Given the description of an element on the screen output the (x, y) to click on. 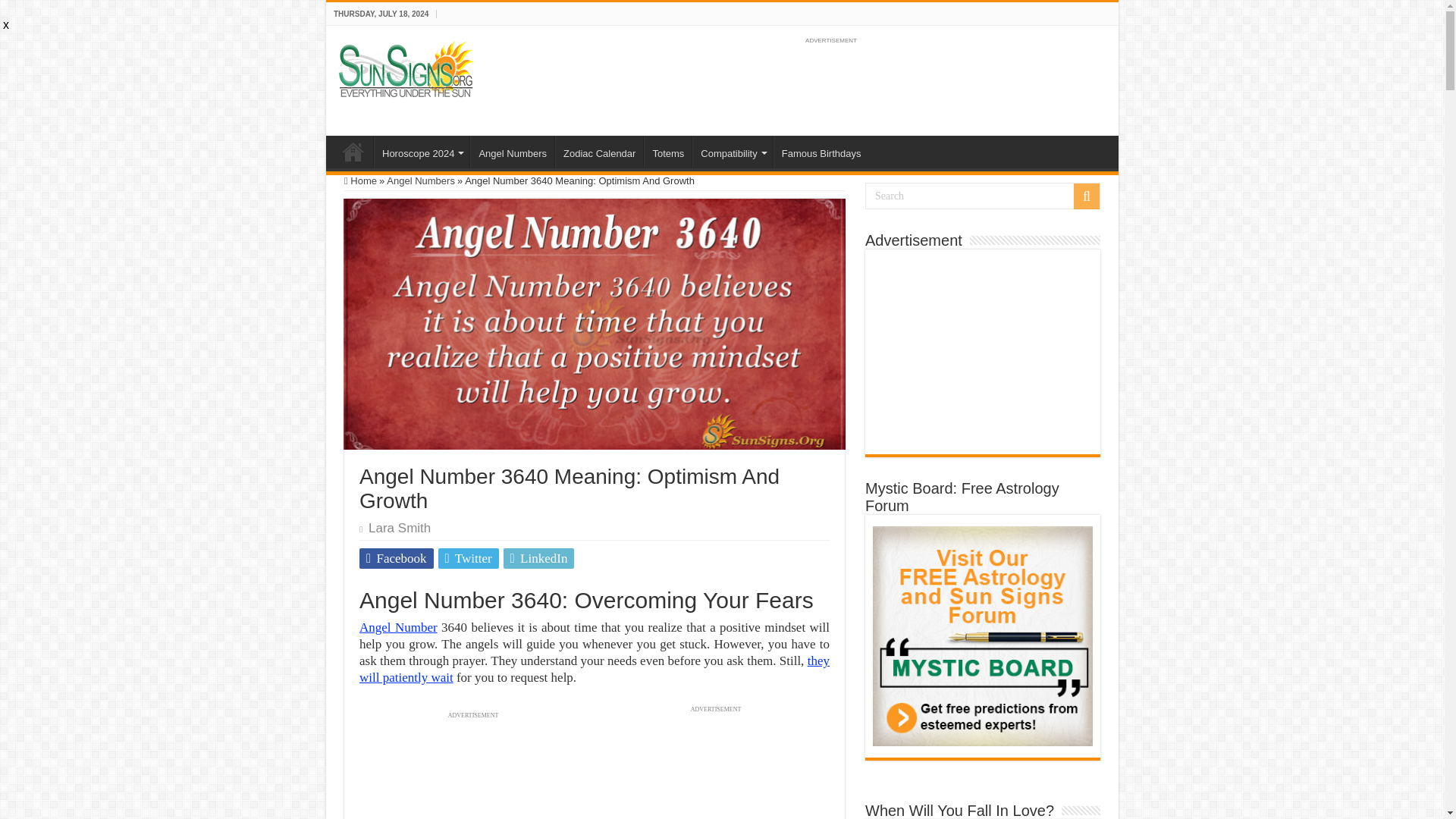
Search (982, 195)
Angel Number (398, 626)
Sun Signs (405, 67)
3rd party ad content (830, 82)
Twitter (468, 557)
Home (360, 180)
Horoscope 2024 (421, 151)
they will patiently wait (594, 668)
Facebook (396, 557)
Horoscope 2024 (421, 151)
Sun Signs (352, 151)
LinkedIn (539, 557)
Angel Numbers (512, 151)
Home (352, 151)
